Given the description of an element on the screen output the (x, y) to click on. 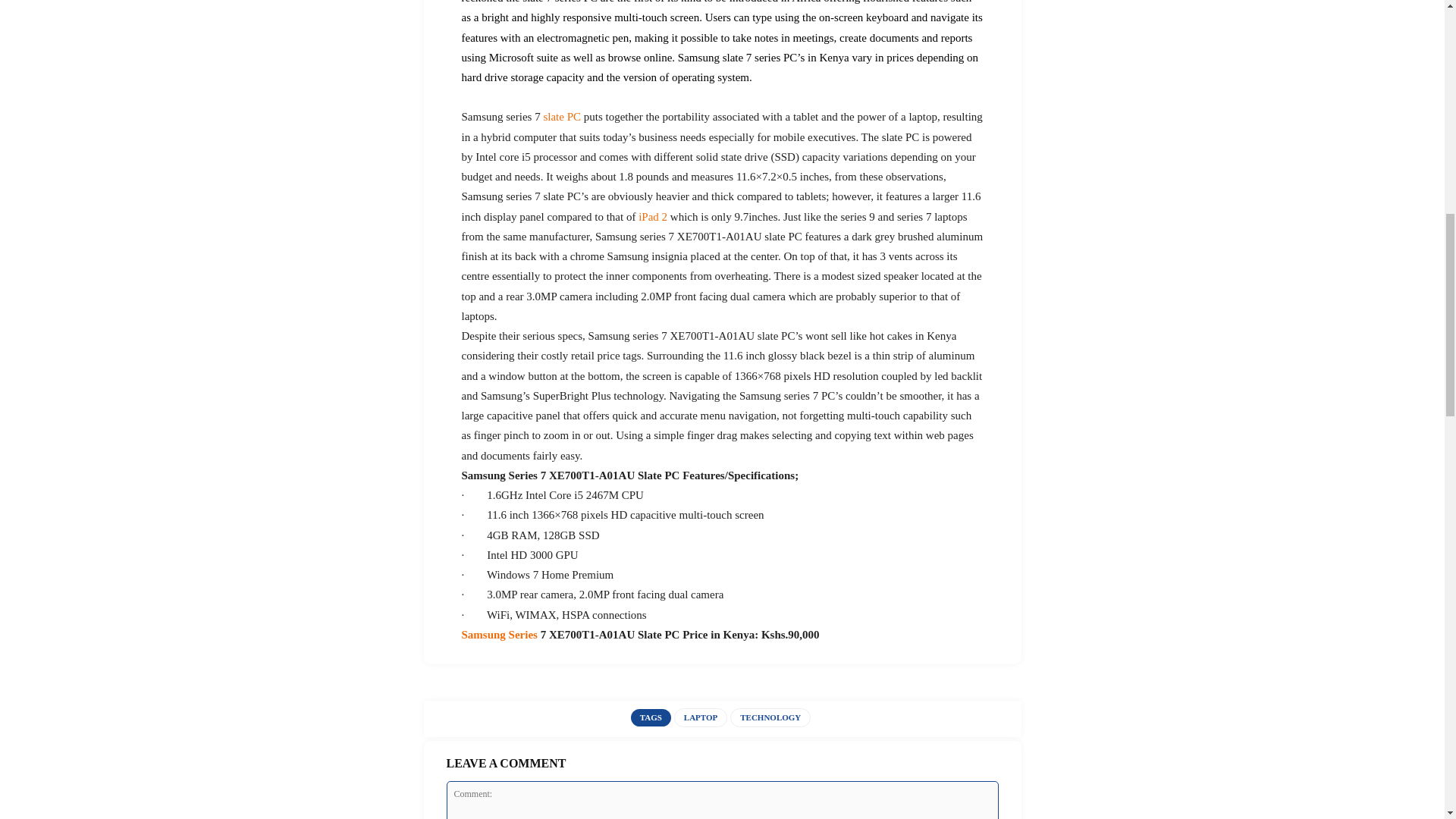
TECHNOLOGY (770, 717)
slate PC (561, 116)
iPad 2 (652, 216)
LAPTOP (700, 717)
Samsung Series (499, 634)
